Given the description of an element on the screen output the (x, y) to click on. 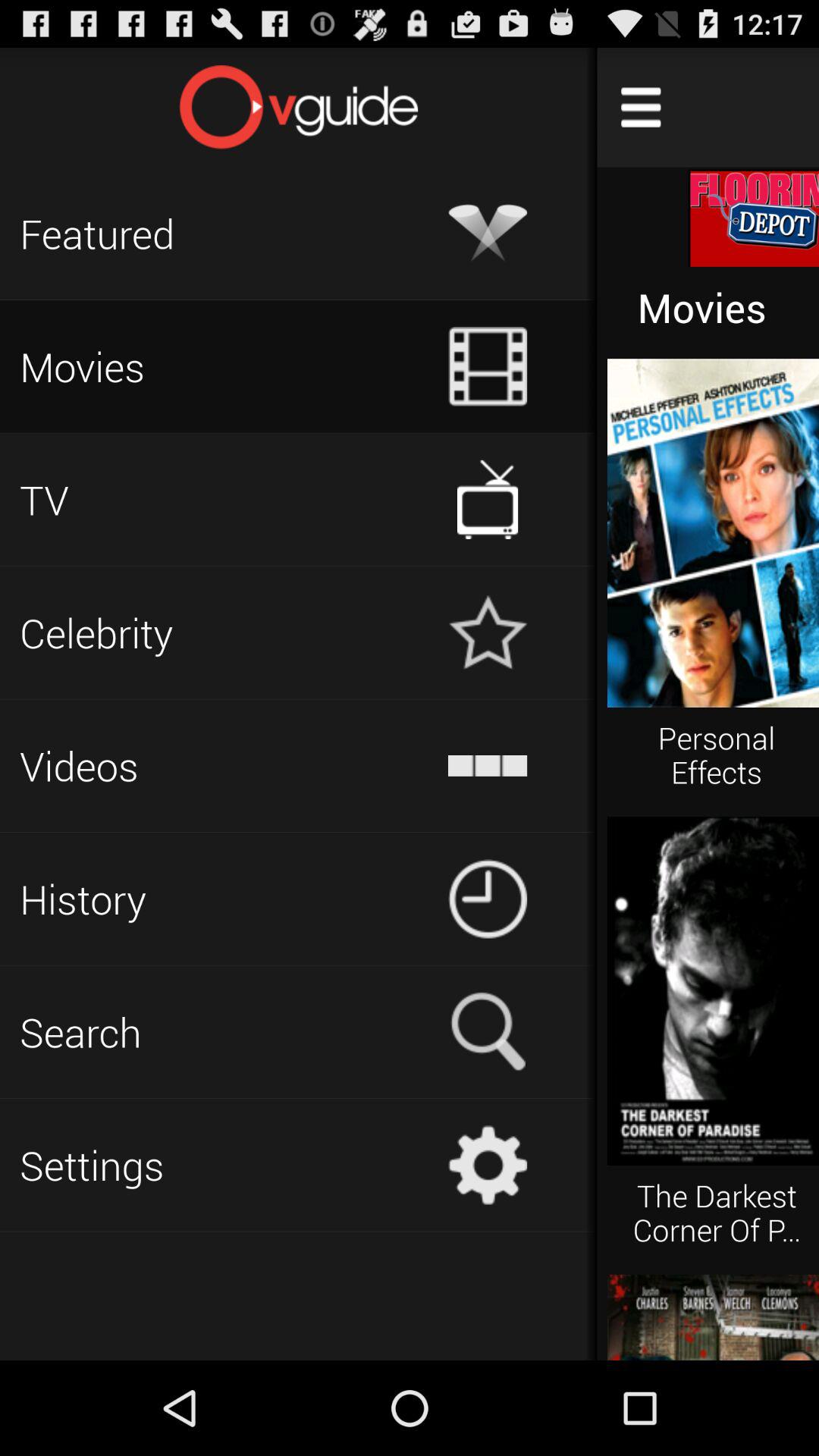
go to frontpage (298, 107)
